Given the description of an element on the screen output the (x, y) to click on. 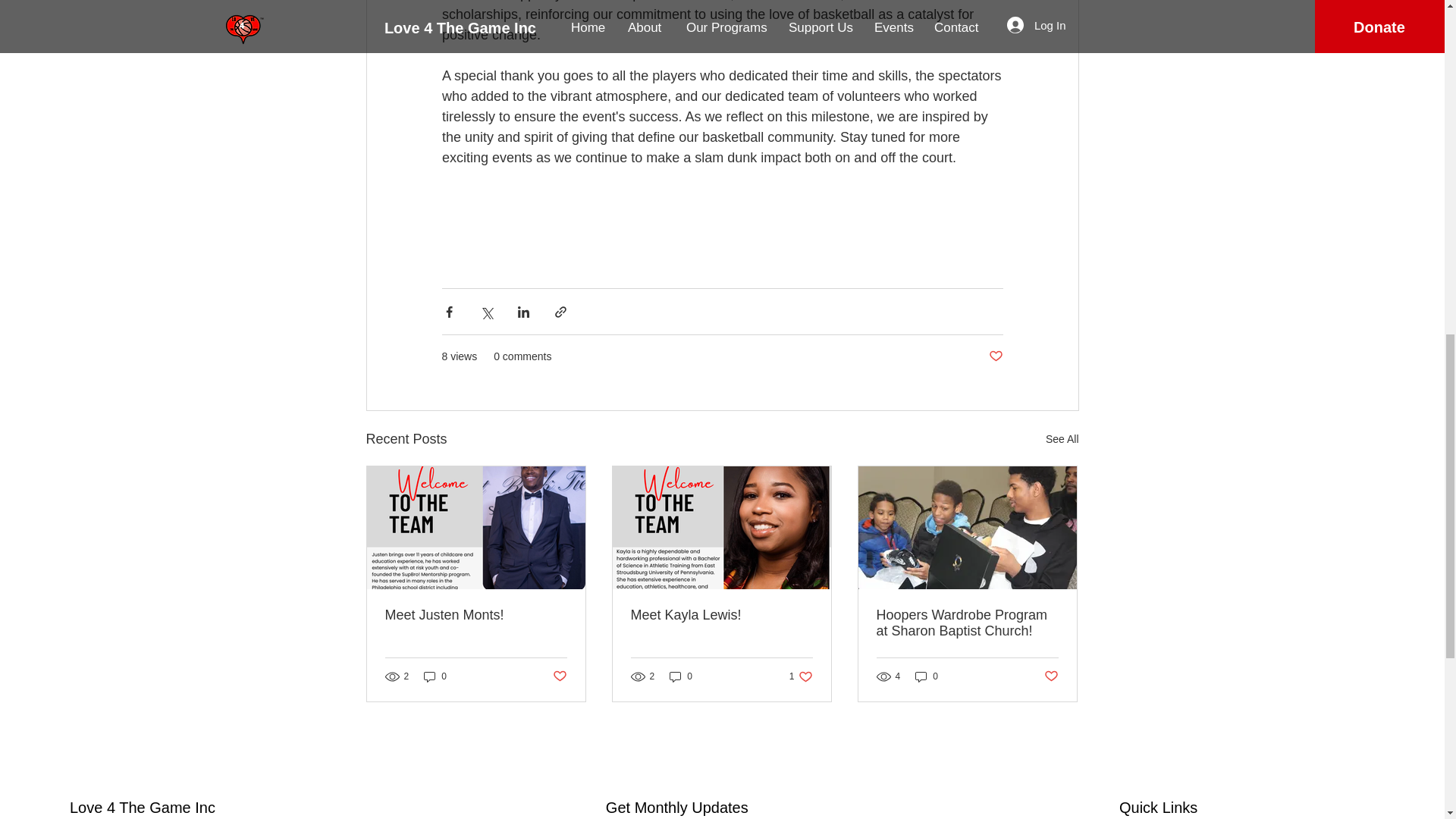
Post not marked as liked (558, 676)
Meet Kayla Lewis! (721, 615)
0 (681, 676)
0 (435, 676)
0 (926, 676)
See All (1061, 439)
Meet Justen Monts! (476, 615)
Post not marked as liked (995, 356)
Post not marked as liked (1050, 676)
